Given the description of an element on the screen output the (x, y) to click on. 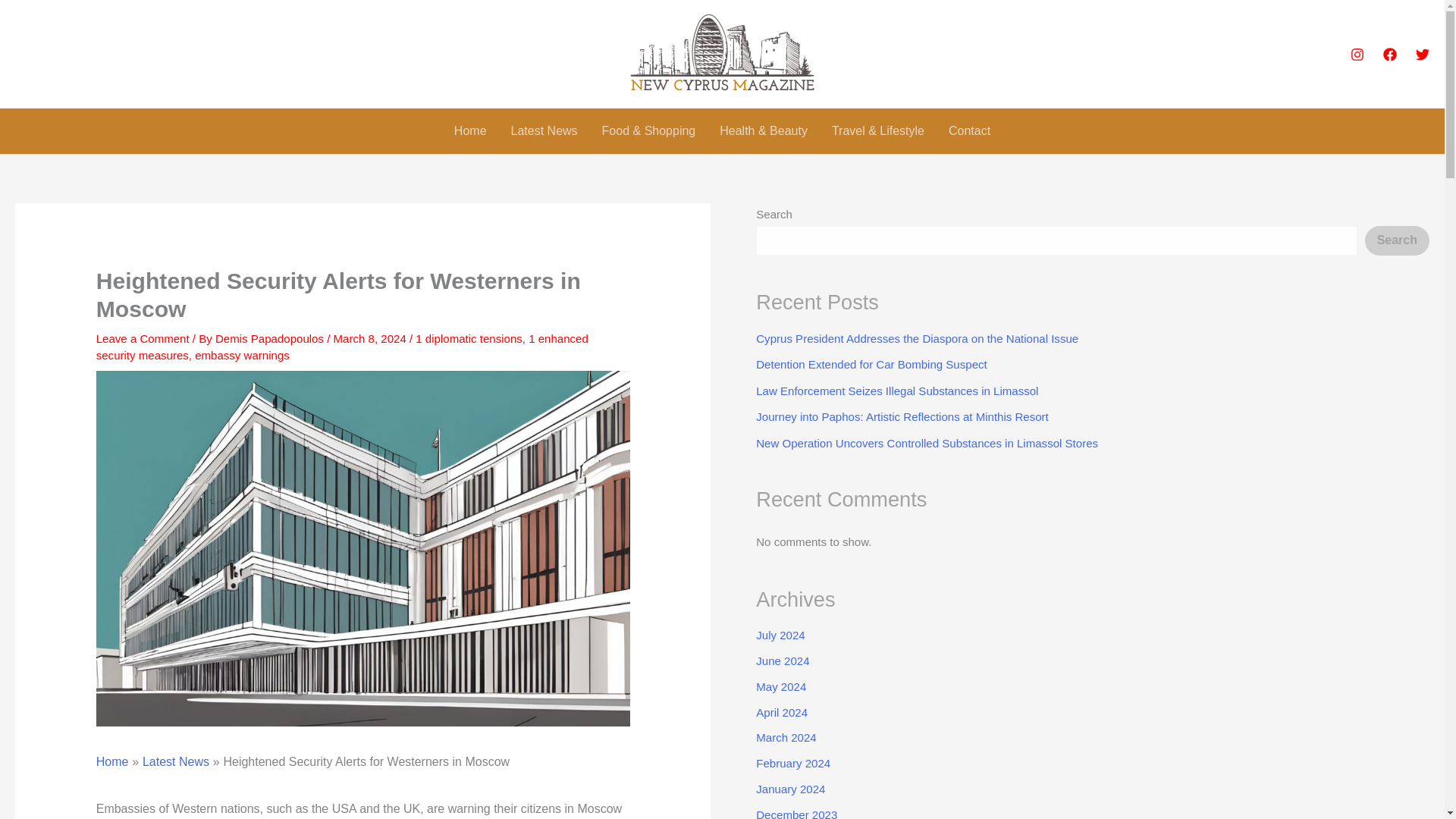
1 diplomatic tensions (468, 338)
1 enhanced security measures (342, 346)
Home (470, 130)
Home (112, 761)
embassy warnings (242, 354)
Latest News (175, 761)
Demis Papadopoulos (270, 338)
Contact (969, 130)
Leave a Comment (142, 338)
Latest News (544, 130)
